Given the description of an element on the screen output the (x, y) to click on. 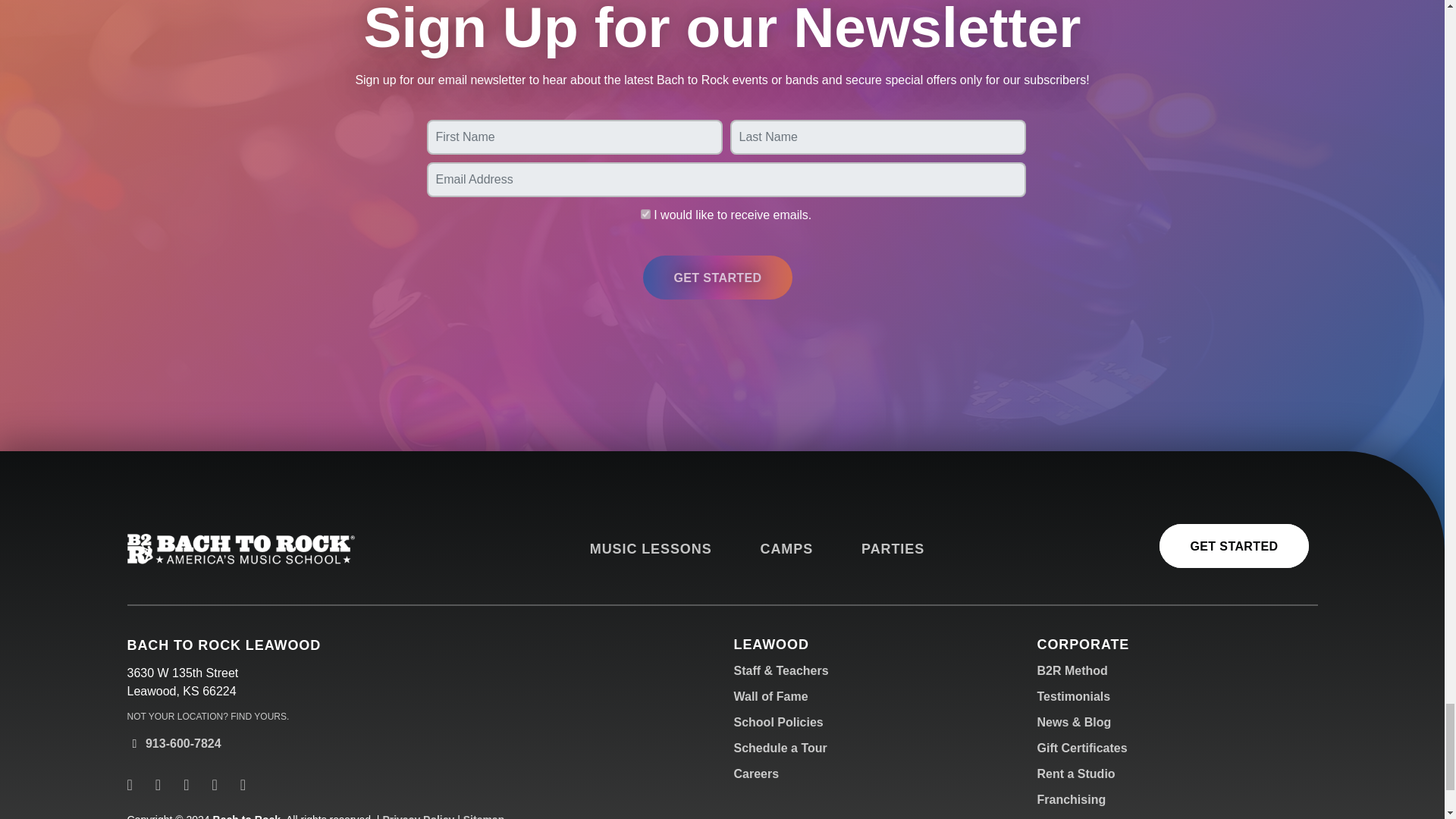
one (645, 214)
Bach to Rock (241, 548)
Get Started (717, 277)
